Given the description of an element on the screen output the (x, y) to click on. 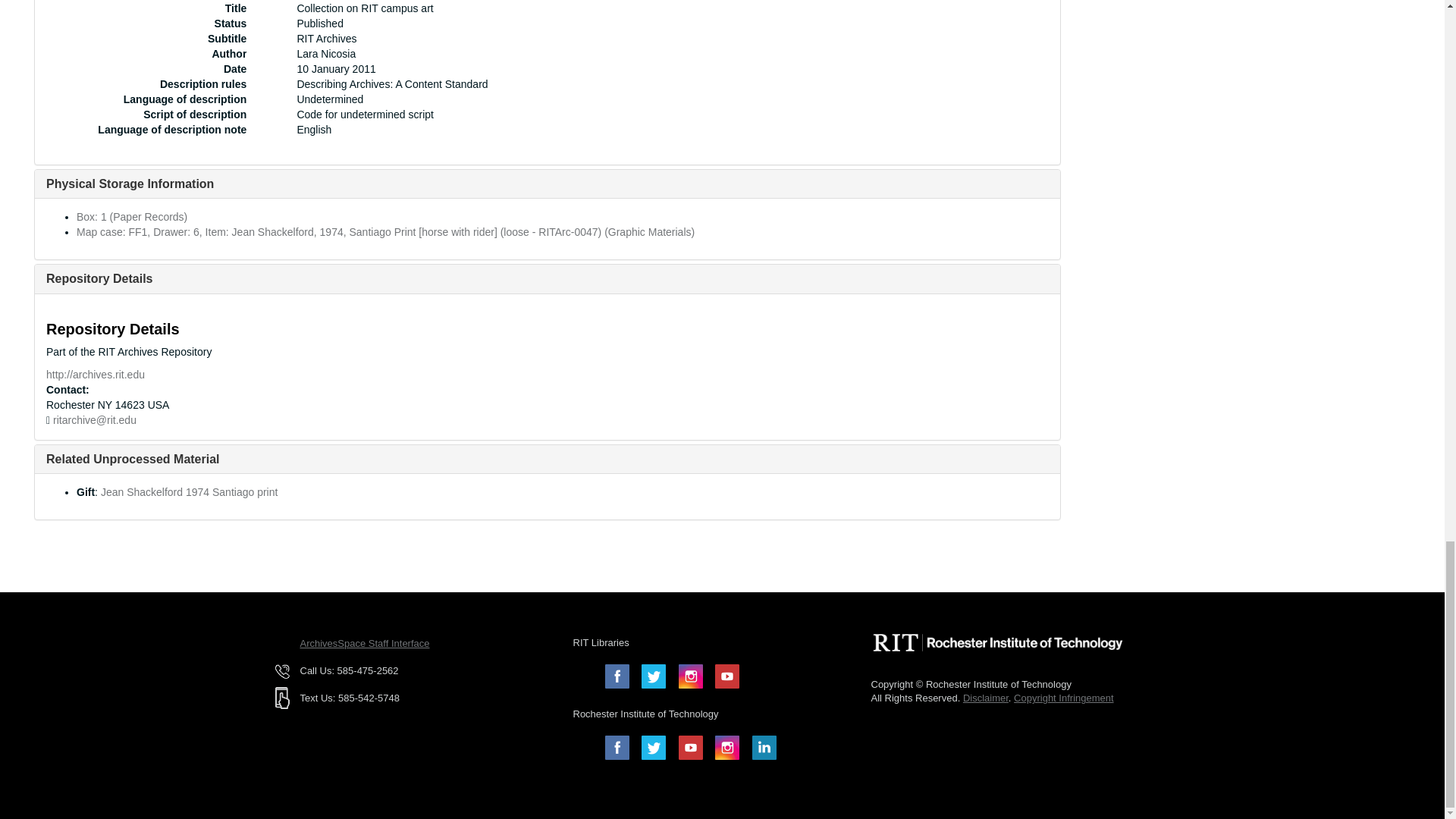
Send email (94, 419)
